Given the description of an element on the screen output the (x, y) to click on. 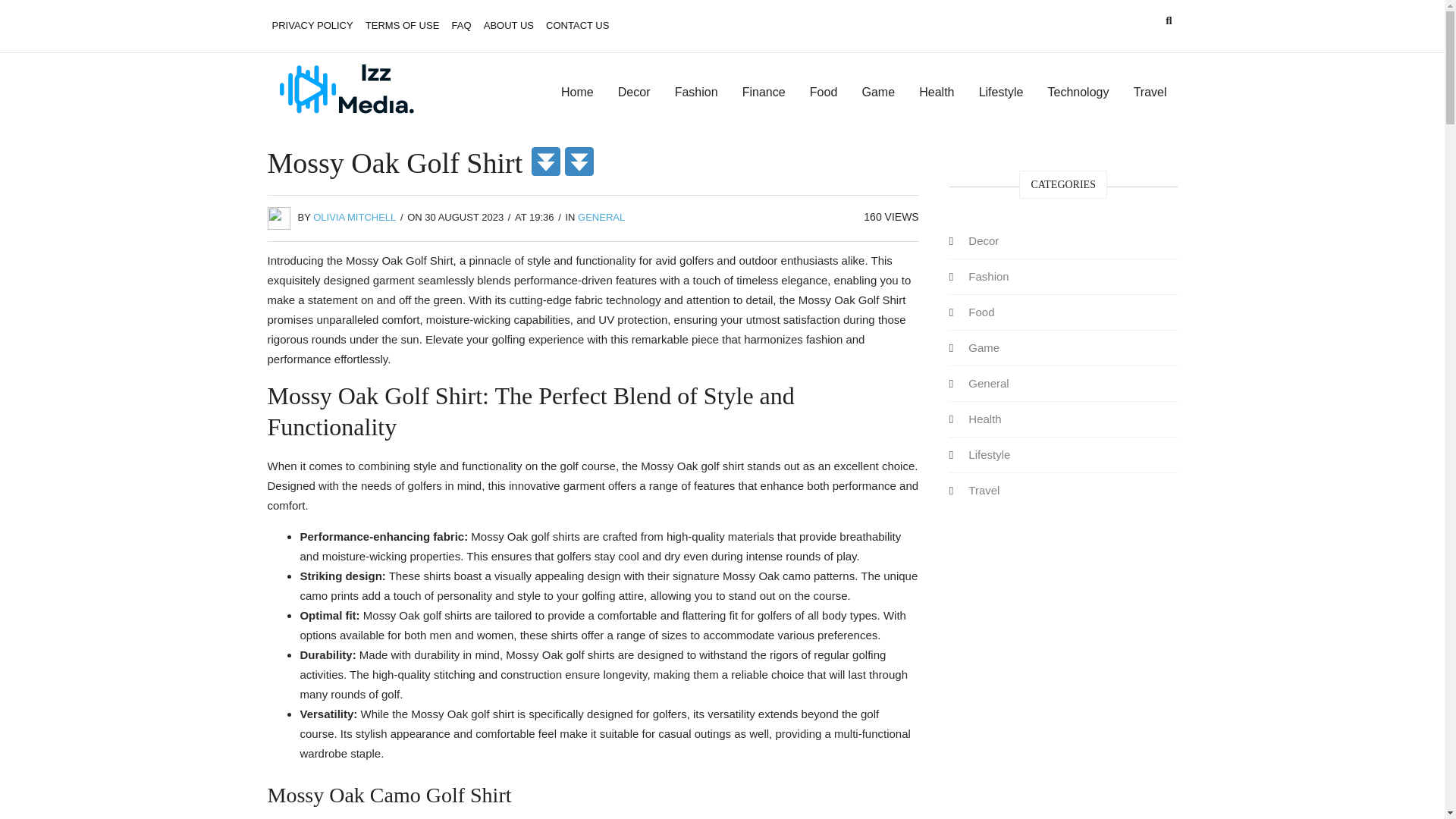
PRIVACY POLICY (311, 25)
Decor (983, 239)
Lifestyle (1000, 92)
Travel (1149, 92)
Fashion (988, 276)
Home (577, 92)
GENERAL (601, 216)
Technology (1077, 92)
Posts by Olivia Mitchell (354, 216)
TERMS OF USE (402, 25)
Decor (634, 92)
Food (823, 92)
Game (983, 347)
Health (935, 92)
Health (984, 419)
